Given the description of an element on the screen output the (x, y) to click on. 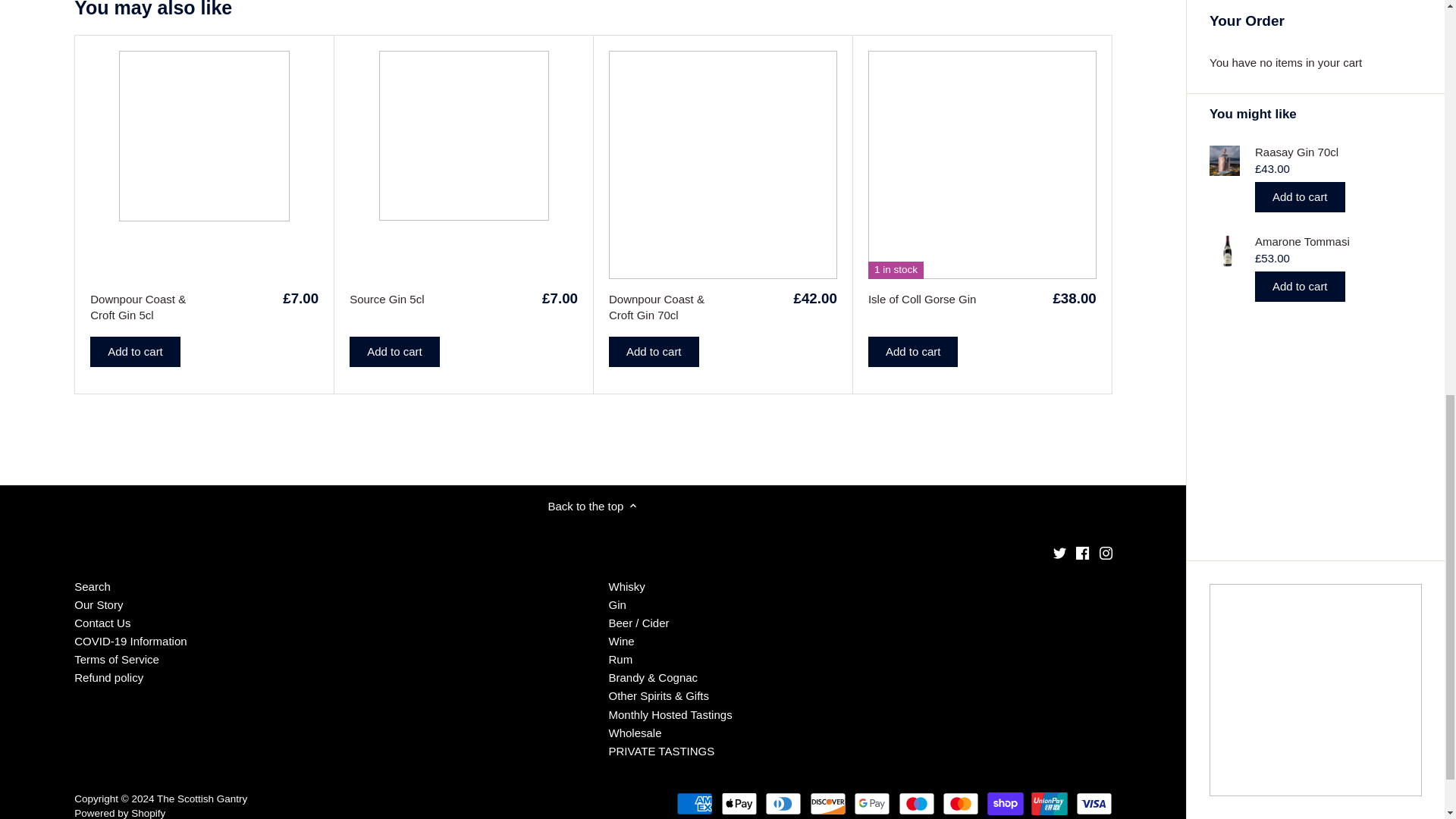
Twitter (1058, 553)
Instagram (1105, 553)
Facebook (1082, 553)
